Given the description of an element on the screen output the (x, y) to click on. 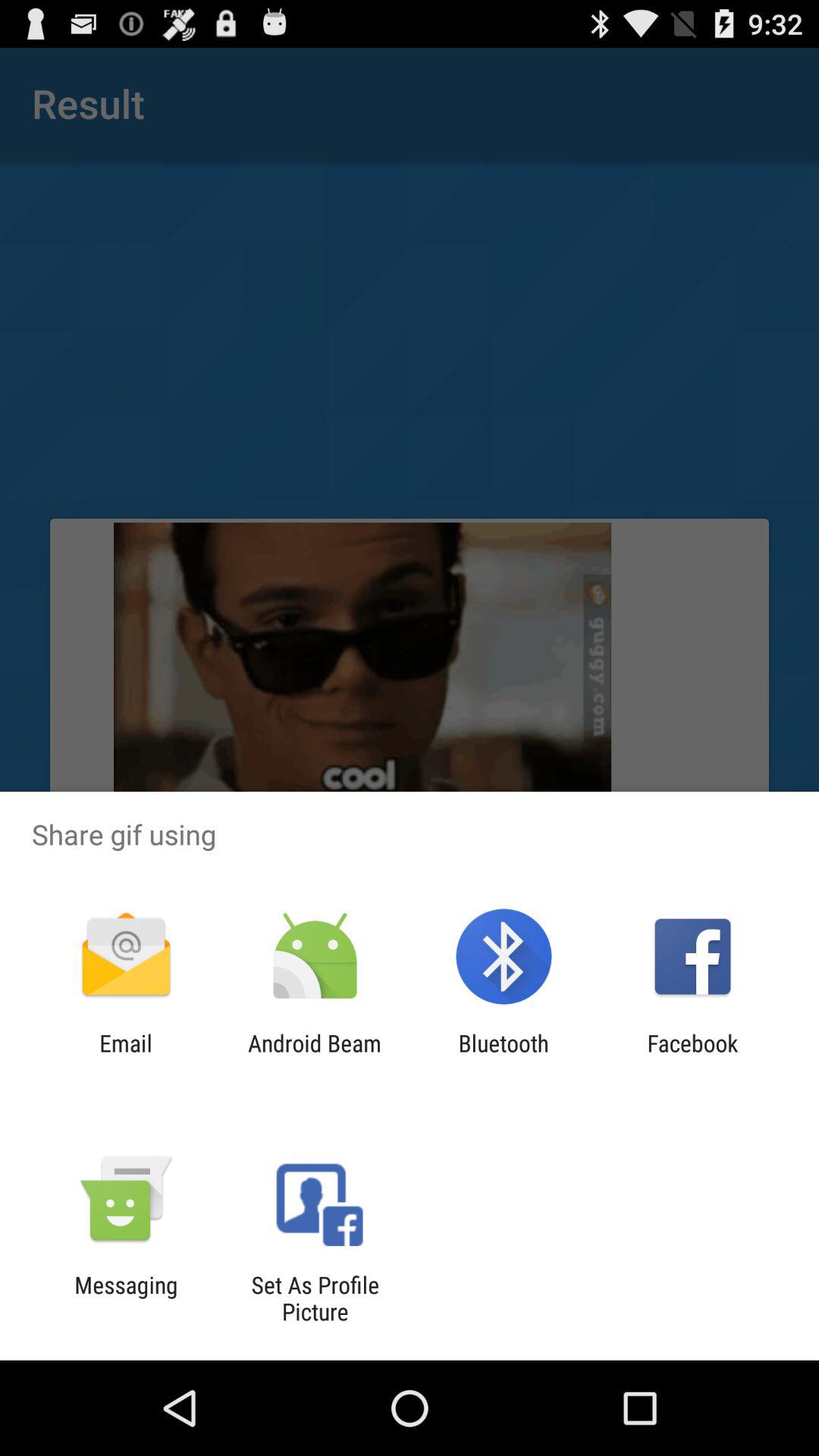
choose icon next to the bluetooth (692, 1056)
